Given the description of an element on the screen output the (x, y) to click on. 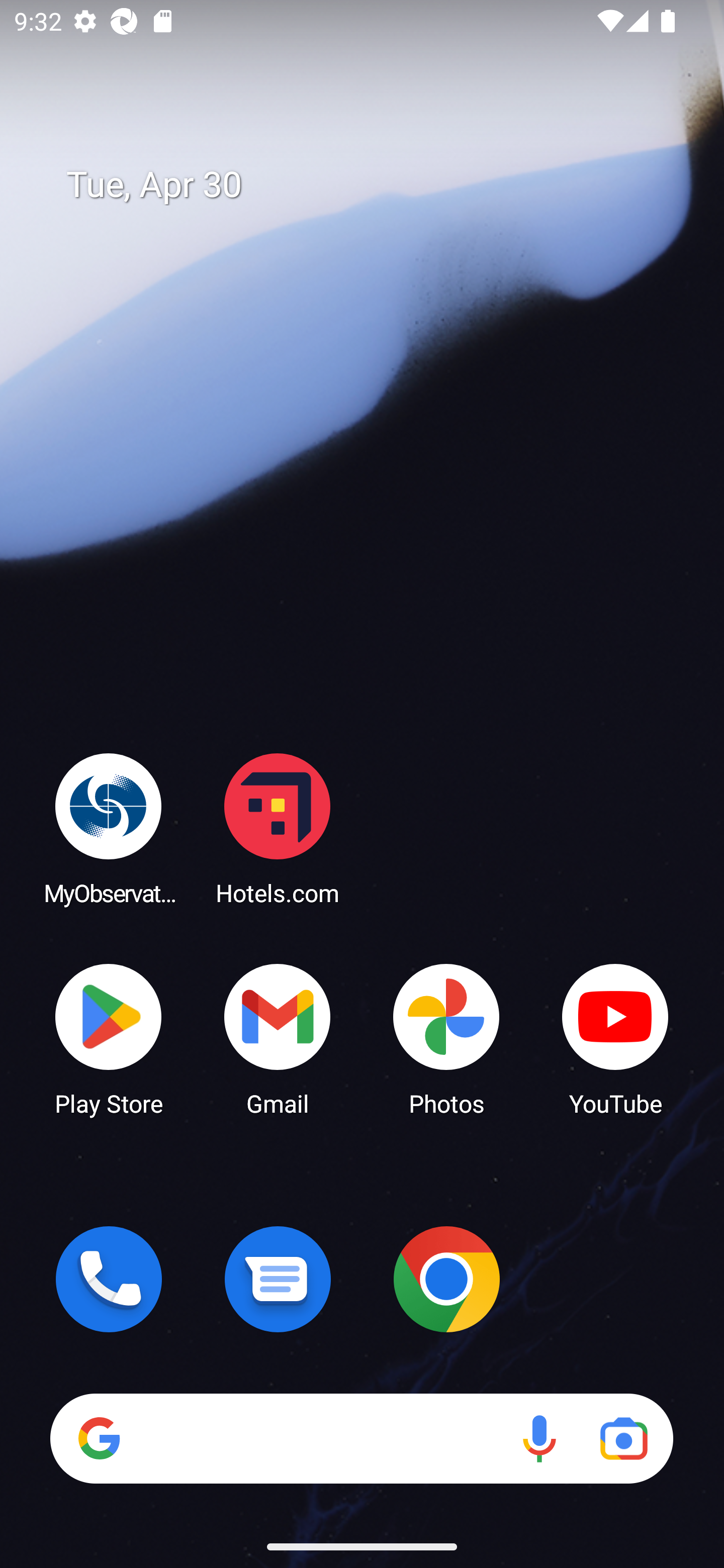
Tue, Apr 30 (375, 184)
MyObservatory (108, 828)
Hotels.com (277, 828)
Play Store (108, 1038)
Gmail (277, 1038)
Photos (445, 1038)
YouTube (615, 1038)
Phone (108, 1279)
Messages (277, 1279)
Chrome (446, 1279)
Voice search (539, 1438)
Google Lens (623, 1438)
